Given the description of an element on the screen output the (x, y) to click on. 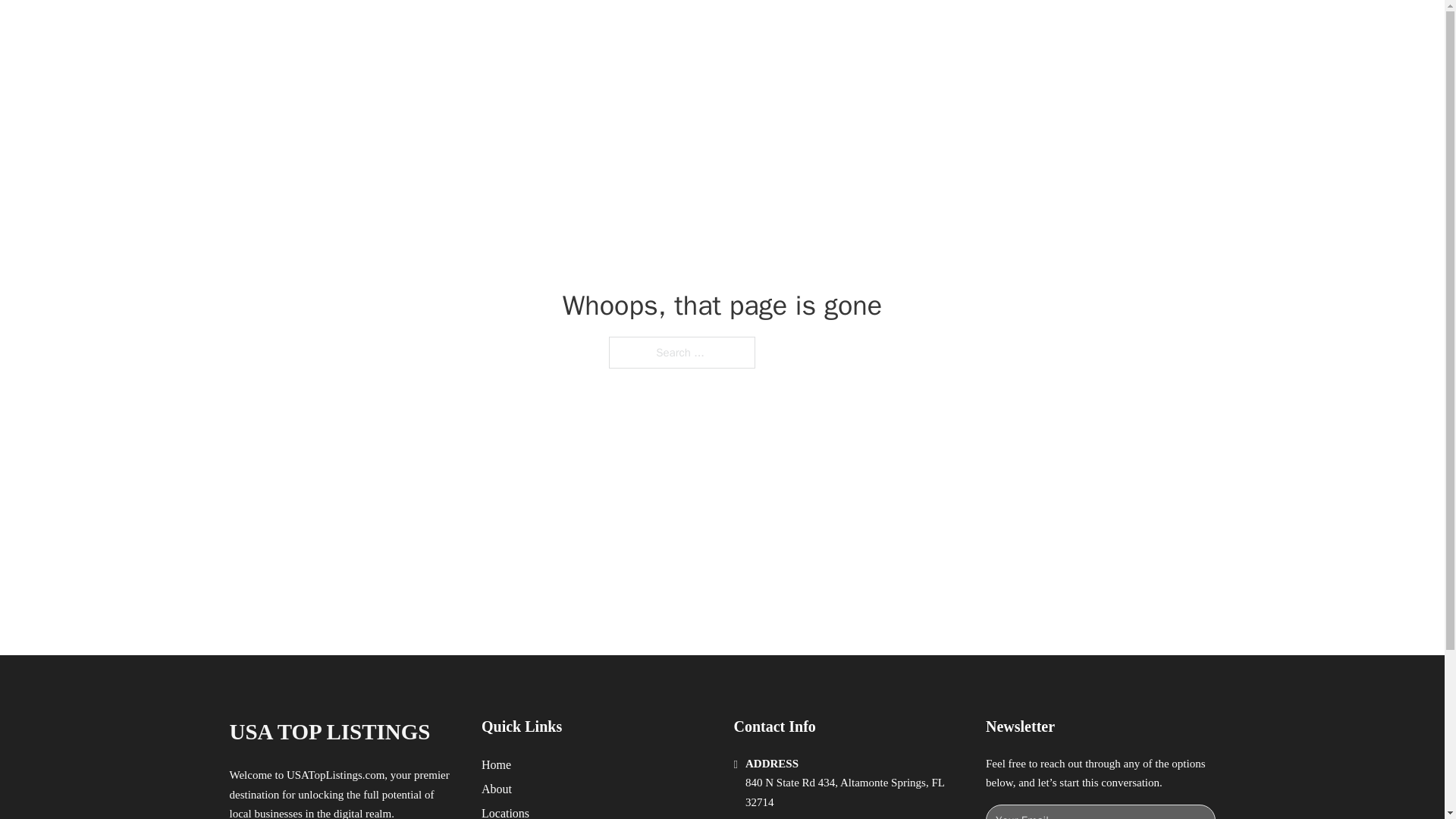
Home (496, 764)
USA TOP LISTINGS (403, 28)
USATopListings.com (335, 775)
LOCATIONS (990, 29)
About (496, 788)
Locations (505, 811)
HOME (919, 29)
USA TOP LISTINGS (328, 732)
